Given the description of an element on the screen output the (x, y) to click on. 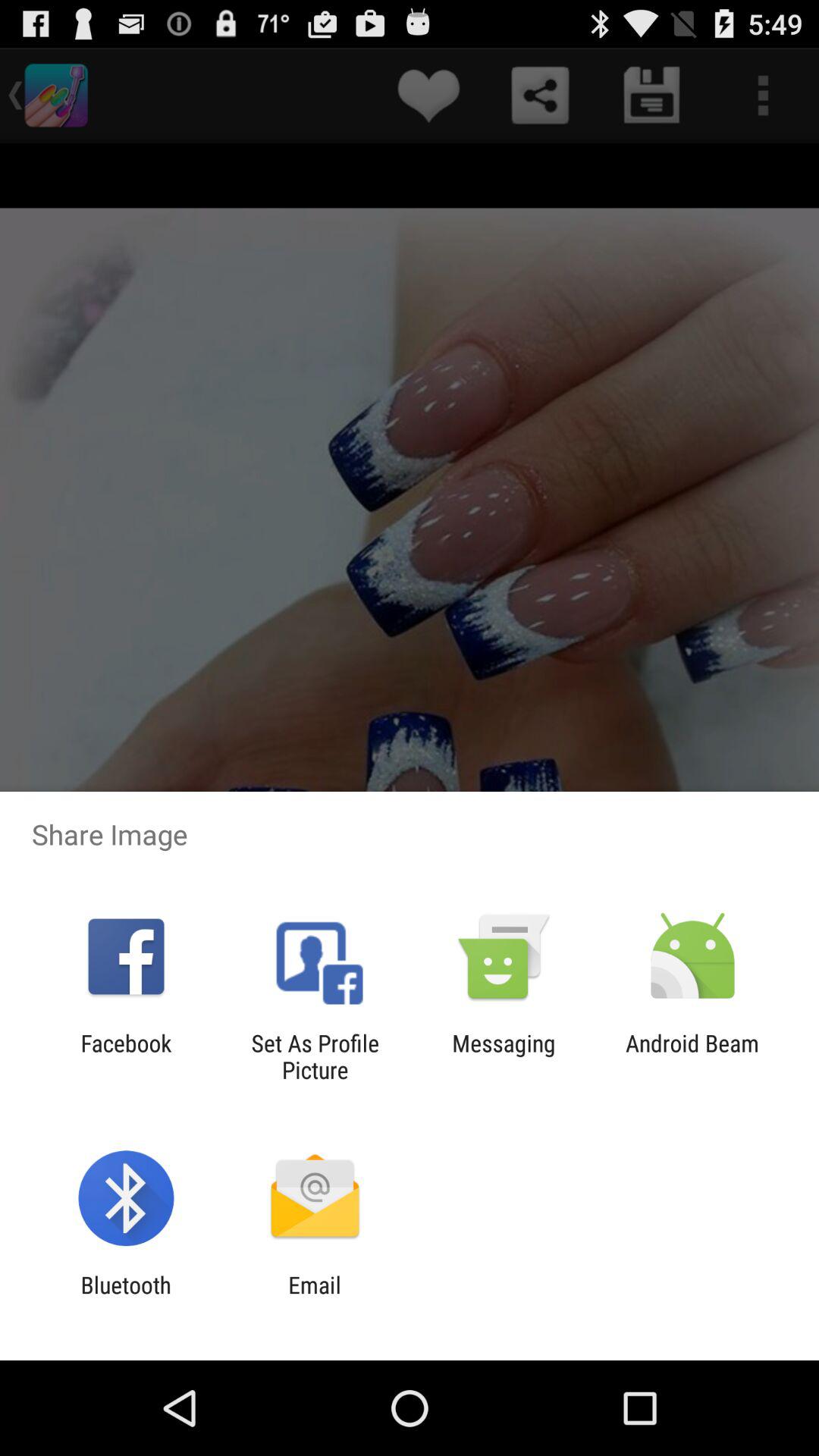
press the icon next to the bluetooth icon (314, 1298)
